Given the description of an element on the screen output the (x, y) to click on. 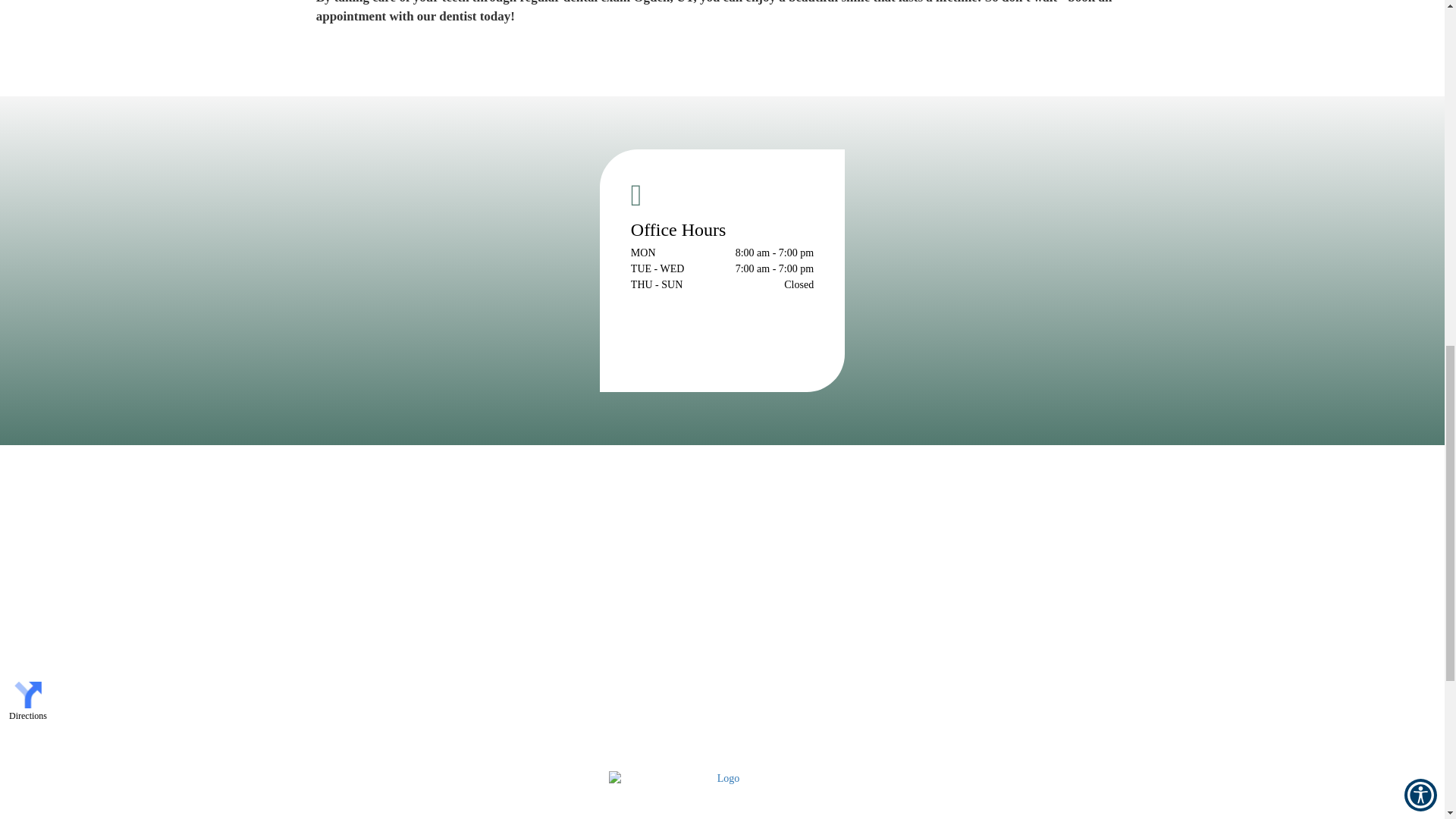
Directions (27, 700)
Logo (721, 795)
